Given the description of an element on the screen output the (x, y) to click on. 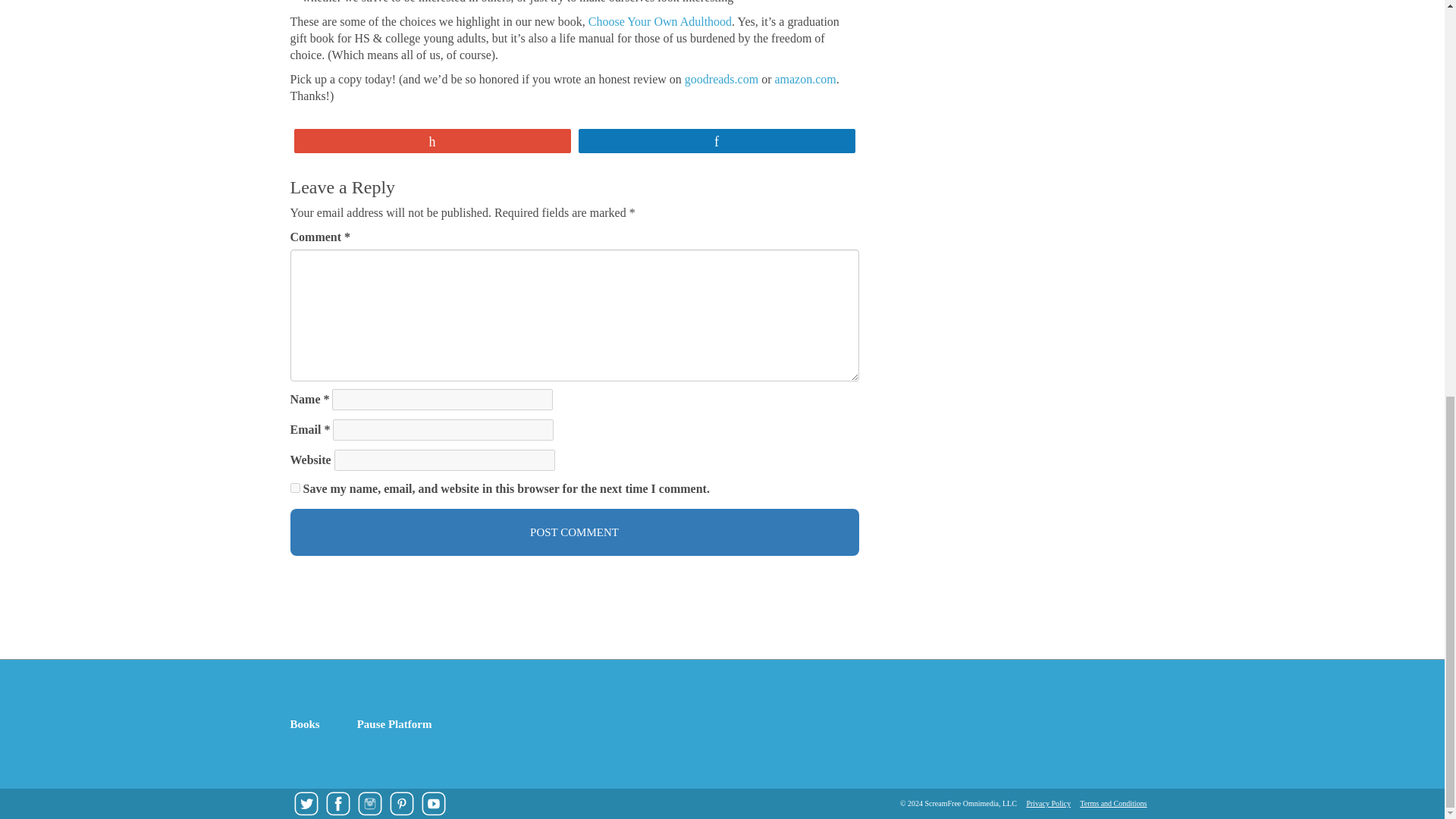
Post Comment (574, 532)
amazon.com (804, 78)
Choose Your Own Adulthood (660, 21)
Post Comment (574, 532)
yes (294, 488)
goodreads.com (721, 78)
